Given the description of an element on the screen output the (x, y) to click on. 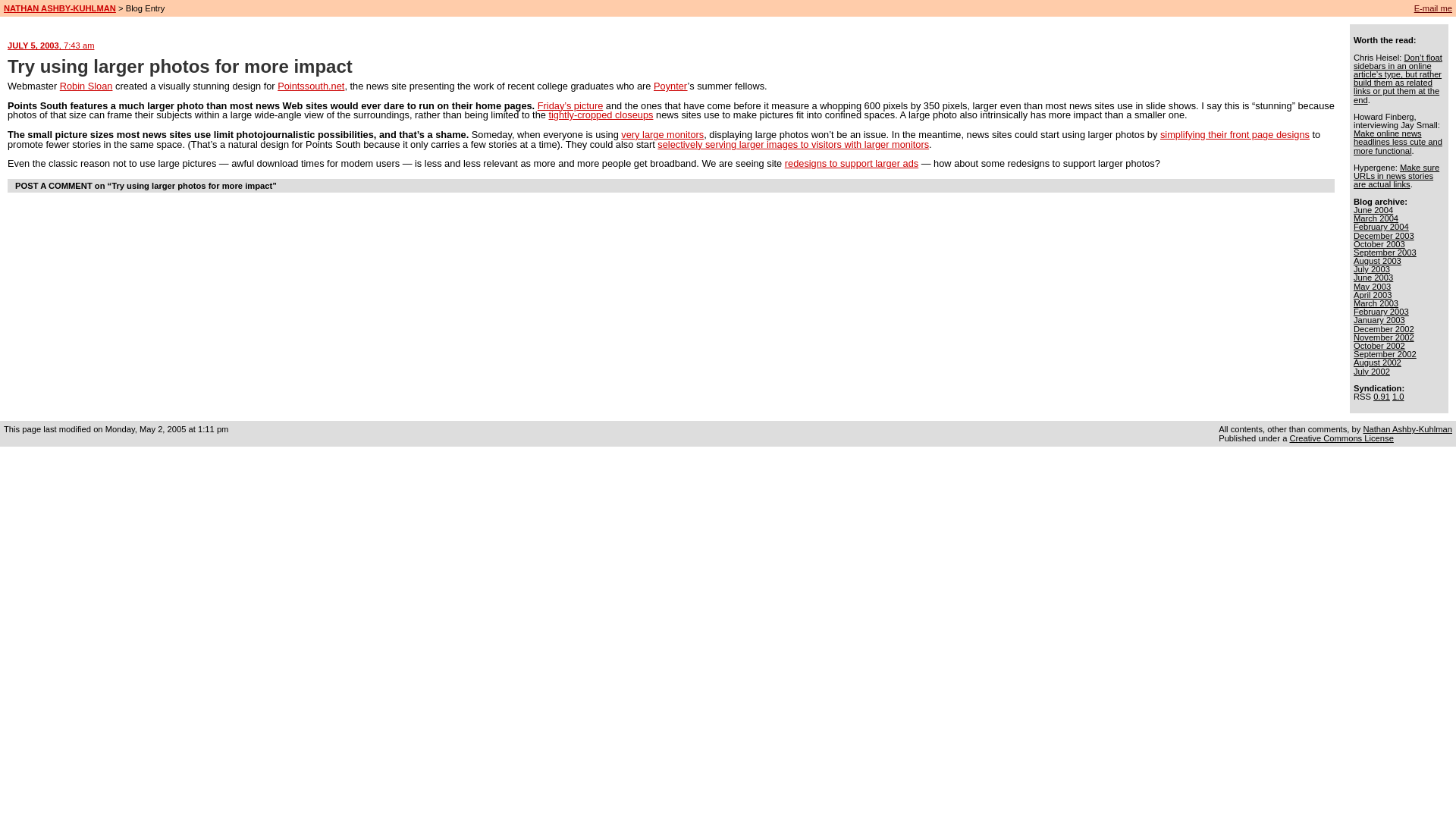
POST A COMMENT (53, 185)
September 2002 (1385, 353)
July 2003 (1372, 268)
Adrian Holovaty: NYTimes.com article pages lose left rail (851, 163)
February 2004 (1381, 225)
August 2003 (1377, 260)
October 2002 (1379, 345)
Adrian Holovaty: A very large screen (662, 134)
redesigns to support larger ads (851, 163)
Pointssouth.net (310, 85)
